Given the description of an element on the screen output the (x, y) to click on. 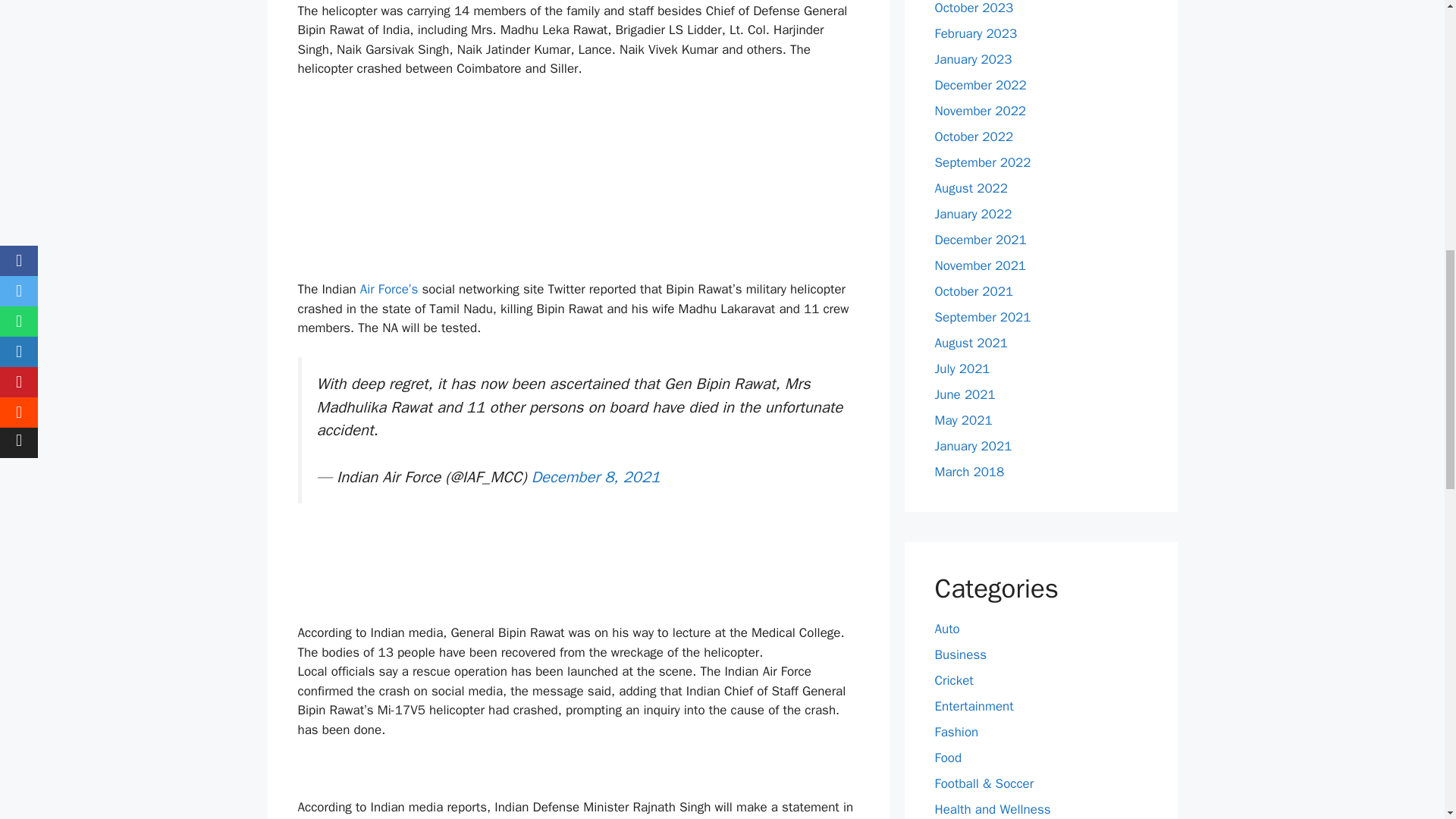
December 2022 (980, 84)
January 2023 (972, 59)
September 2022 (982, 162)
February 2023 (975, 33)
December 8, 2021 (596, 476)
October 2023 (973, 7)
November 2022 (980, 110)
Advertisement (583, 168)
October 2022 (973, 136)
